Given the description of an element on the screen output the (x, y) to click on. 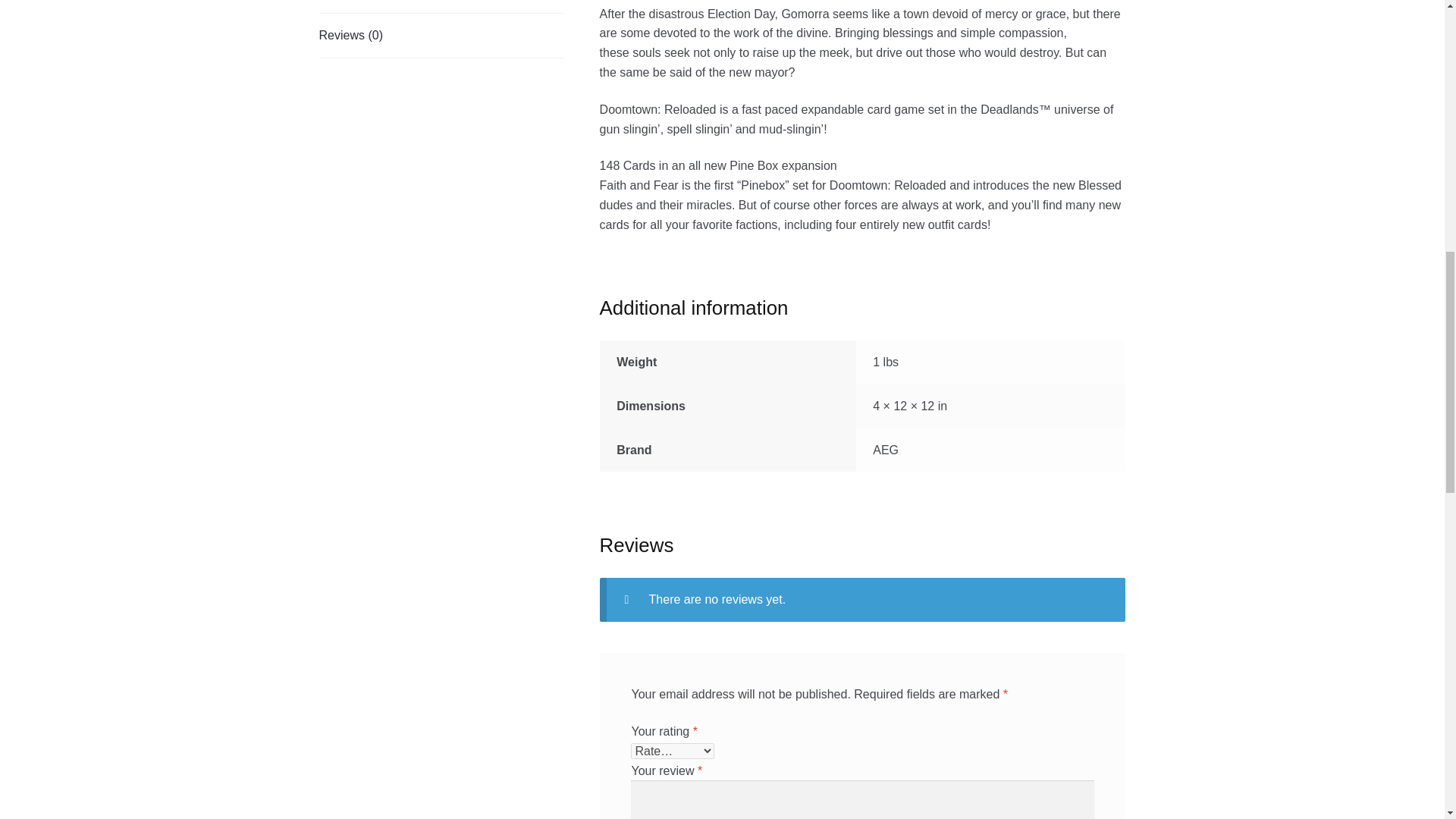
Additional information (441, 6)
